Given the description of an element on the screen output the (x, y) to click on. 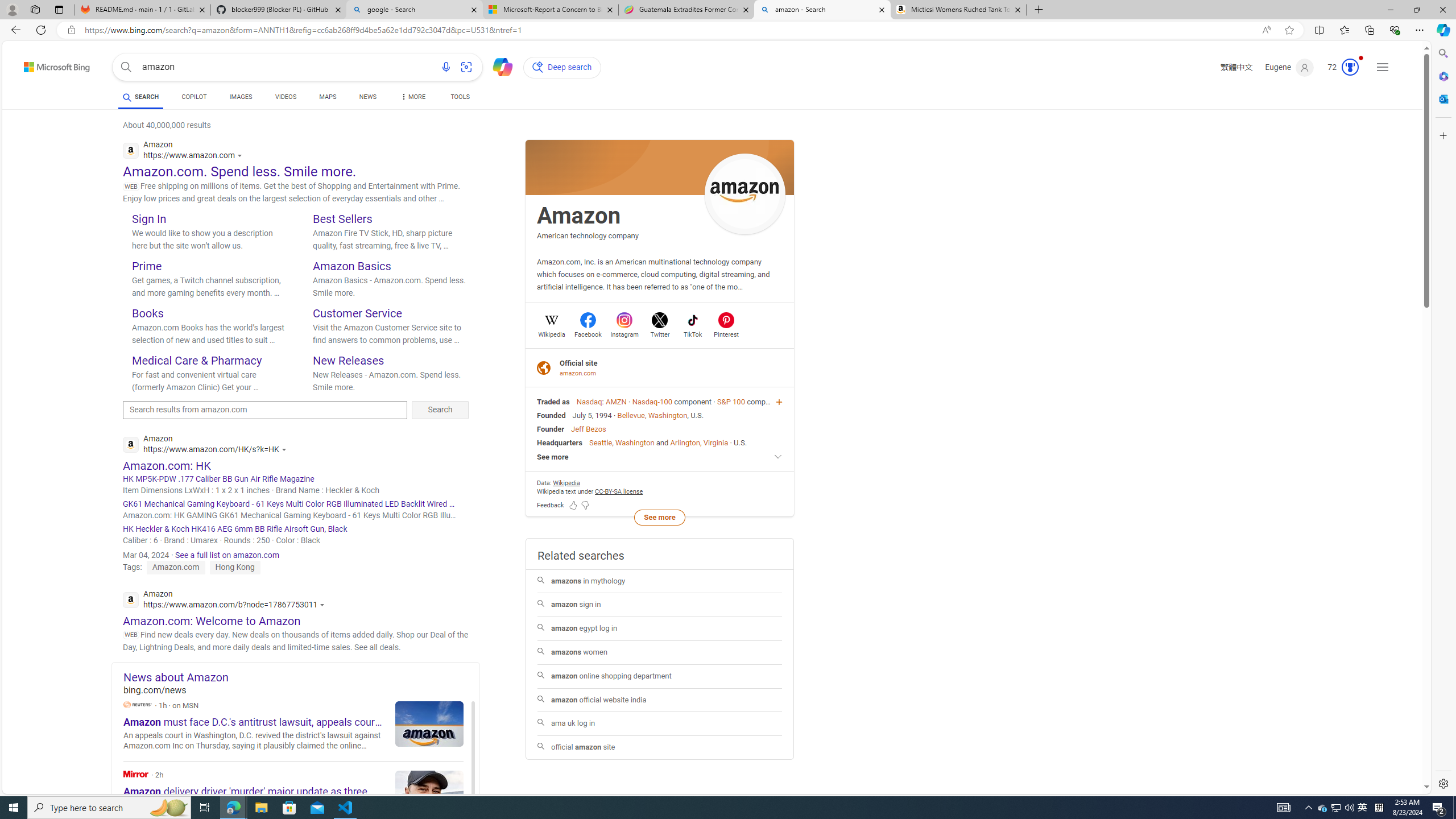
amazon.com (578, 373)
Bellevue, Washington (652, 415)
Skip to content (36, 63)
amazon official website india (659, 699)
TOOLS (460, 96)
amazon - Search (822, 9)
Back to Bing search (50, 64)
Settings and quick links (1383, 67)
TikTok (692, 333)
Best Sellers (342, 218)
